Given the description of an element on the screen output the (x, y) to click on. 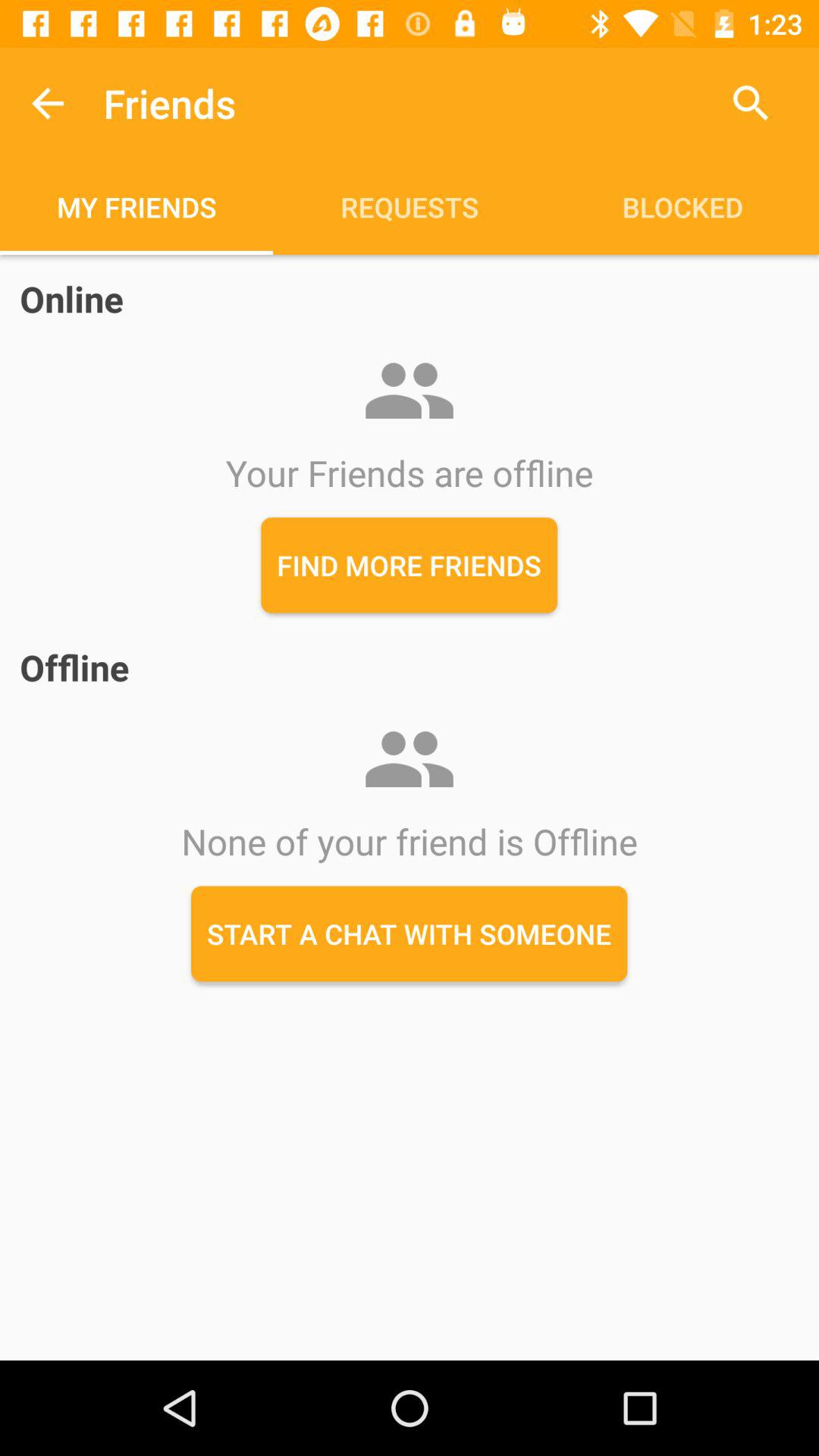
select find more friends (409, 565)
